Given the description of an element on the screen output the (x, y) to click on. 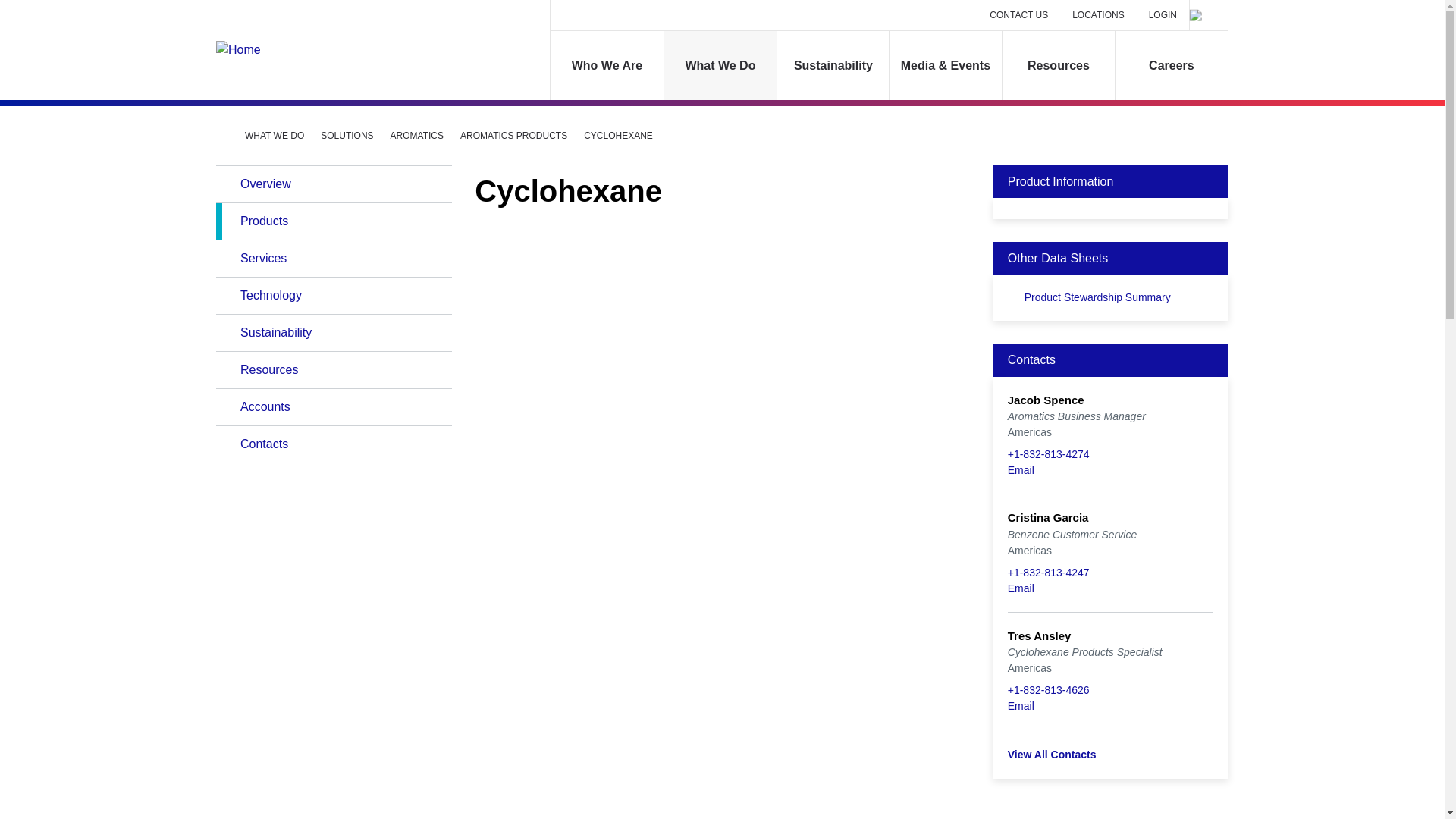
Search (1208, 15)
Login (1162, 14)
Sustainability (833, 65)
Contact Us (1019, 14)
Resources (1059, 65)
Who We Are (606, 65)
Products (333, 221)
Careers (1171, 65)
What We Do (719, 65)
What We Do (719, 65)
Home (320, 49)
Locations (1097, 14)
Who We Are (606, 65)
Home (221, 134)
